Given the description of an element on the screen output the (x, y) to click on. 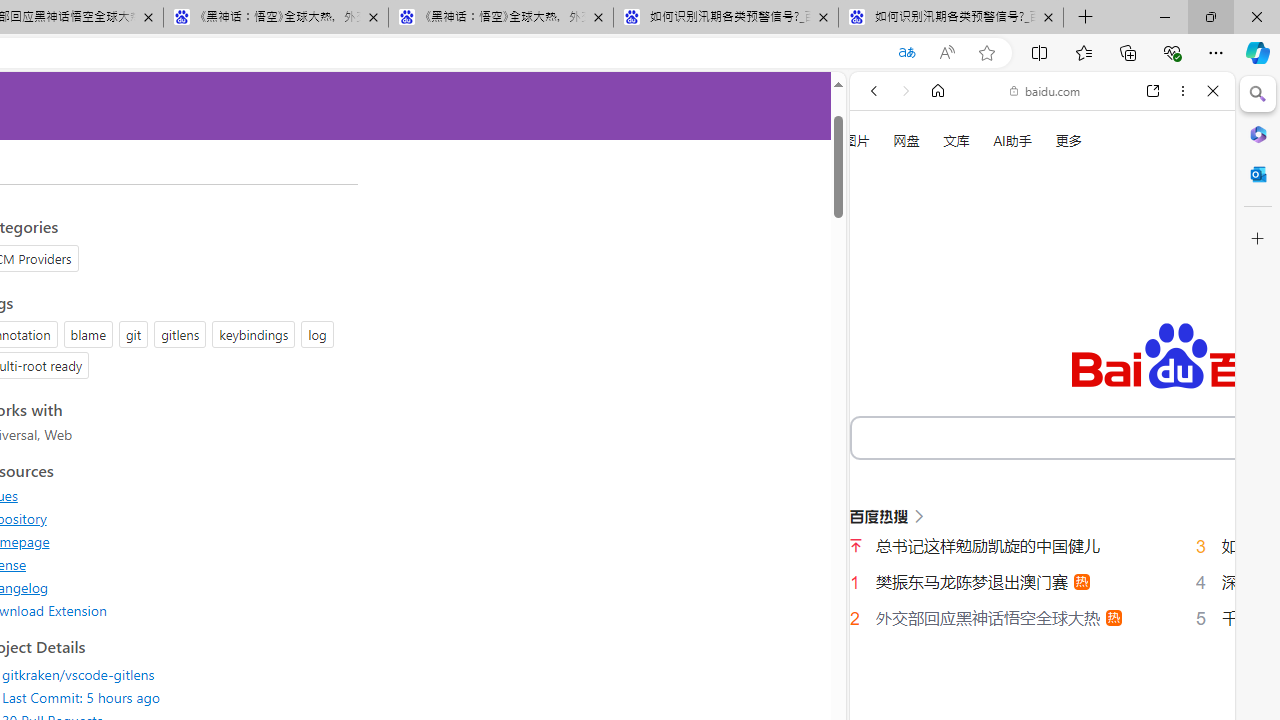
Learn more (943, 272)
